Given the description of an element on the screen output the (x, y) to click on. 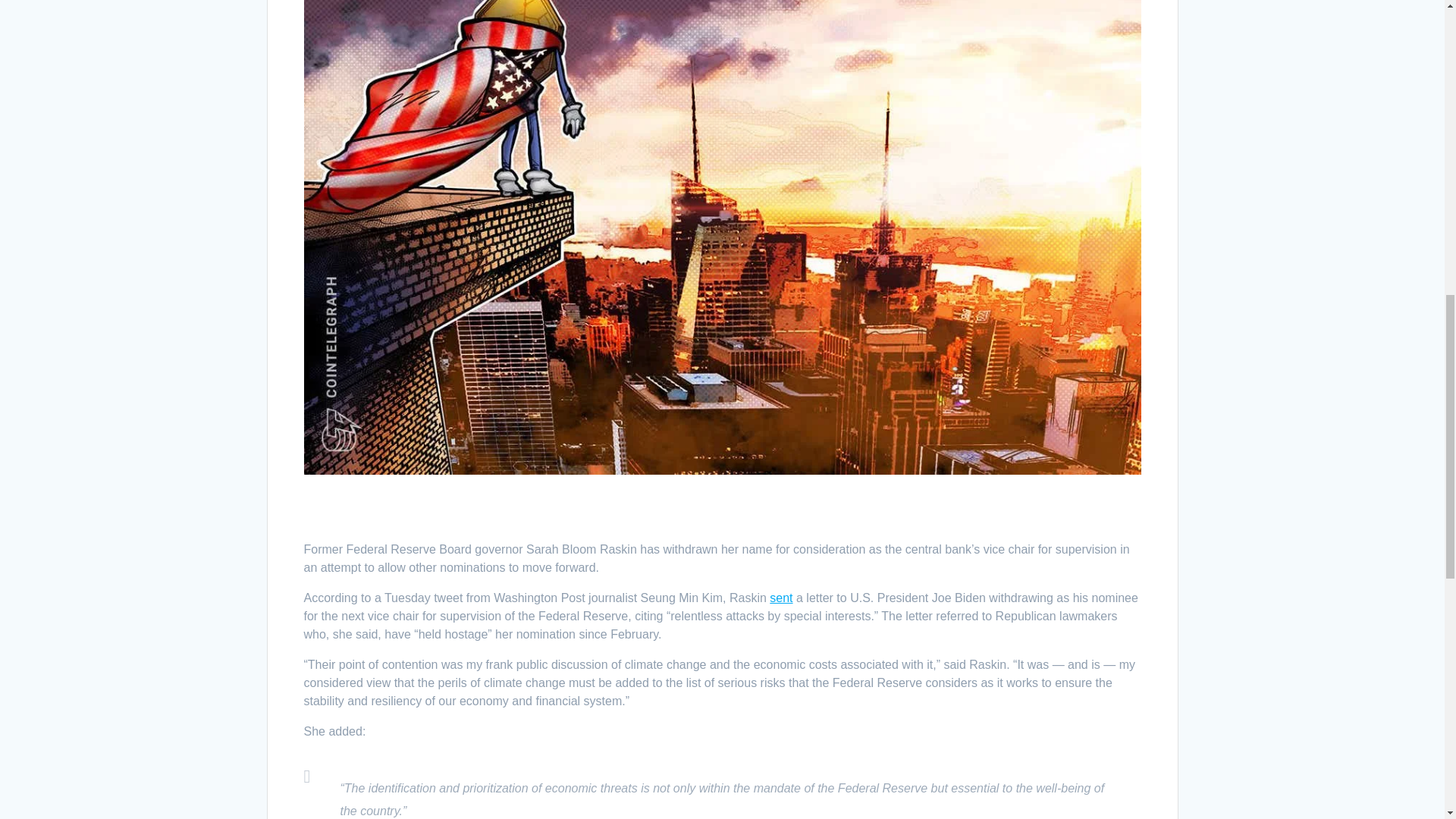
sent (781, 597)
